Given the description of an element on the screen output the (x, y) to click on. 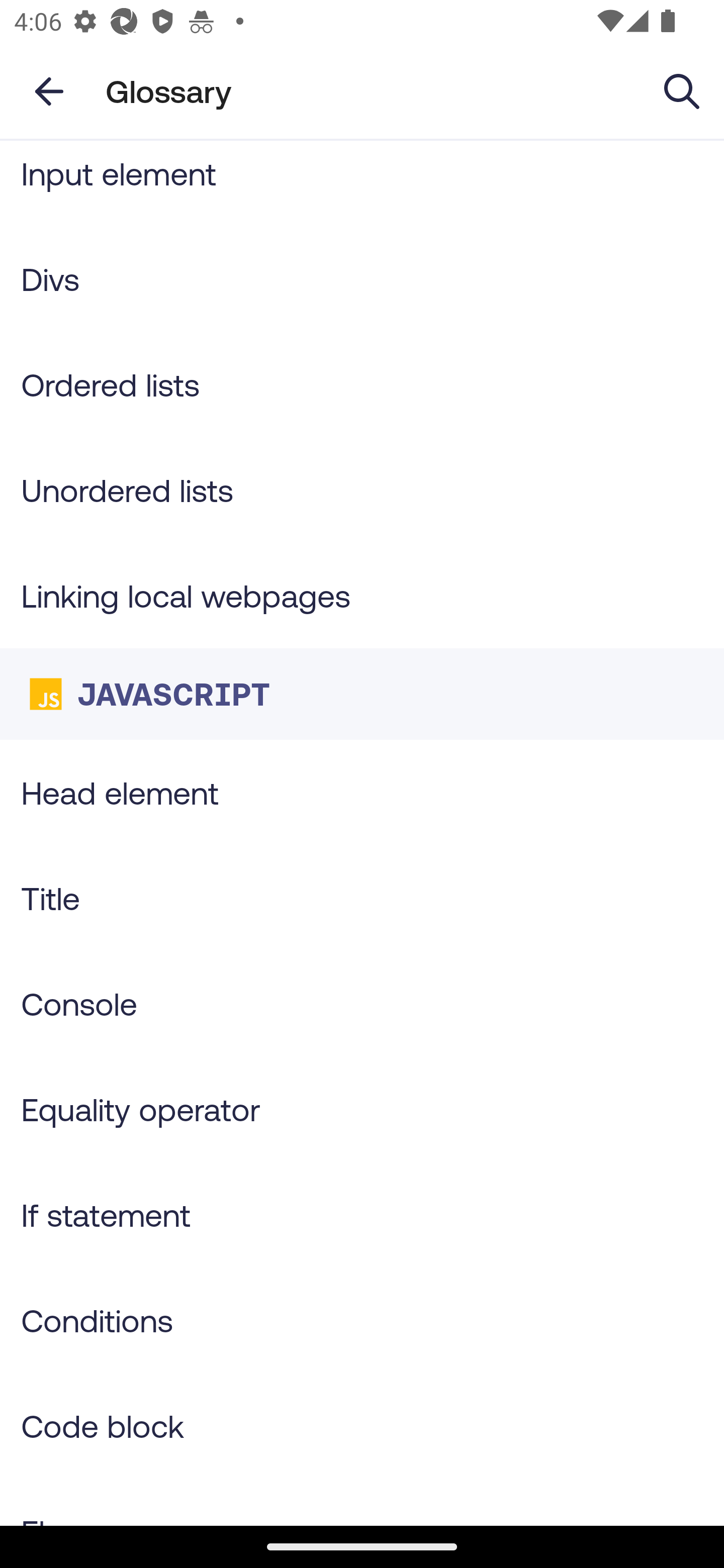
Navigate up (49, 91)
Search Glossary (681, 90)
Input element (362, 183)
Divs (362, 278)
Ordered lists (362, 384)
Unordered lists (362, 489)
Linking local webpages (362, 594)
JAVASCRIPT (362, 693)
Head element (362, 792)
Title (362, 897)
Console (362, 1003)
Equality operator (362, 1108)
If statement (362, 1213)
Conditions (362, 1319)
Code block  (362, 1425)
